Given the description of an element on the screen output the (x, y) to click on. 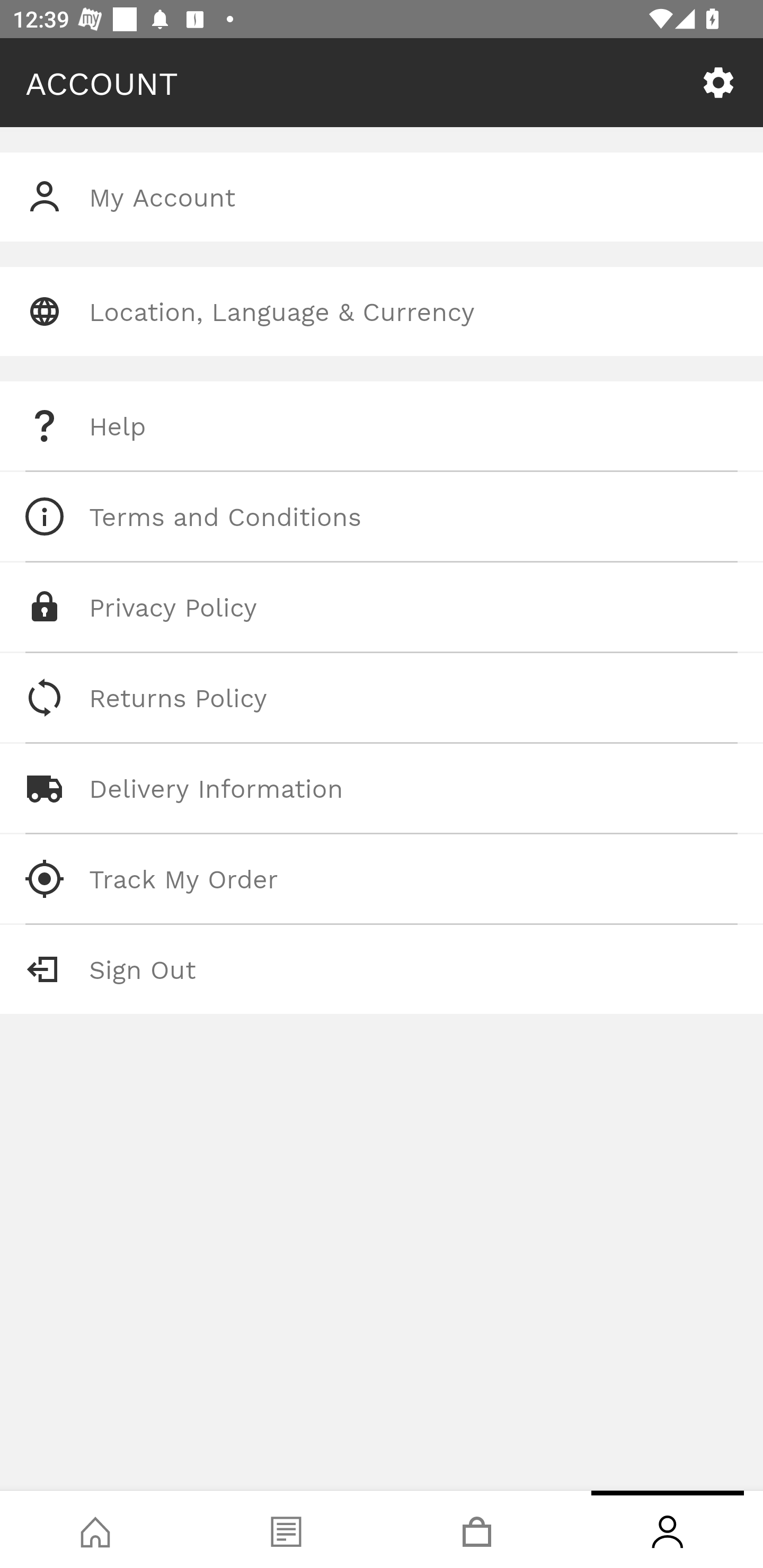
SETTINGS (718, 82)
My Account (381, 196)
Location, Language & Currency (381, 310)
Help (381, 425)
Terms and Conditions (381, 516)
Privacy Policy (381, 607)
Returns Policy (381, 697)
Delivery Information (381, 787)
Track My Order (381, 878)
Sign Out (381, 969)
Shop, tab, 1 of 4 (95, 1529)
Blog, tab, 2 of 4 (285, 1529)
Basket, tab, 3 of 4 (476, 1529)
Account, tab, 4 of 4 (667, 1529)
